Given the description of an element on the screen output the (x, y) to click on. 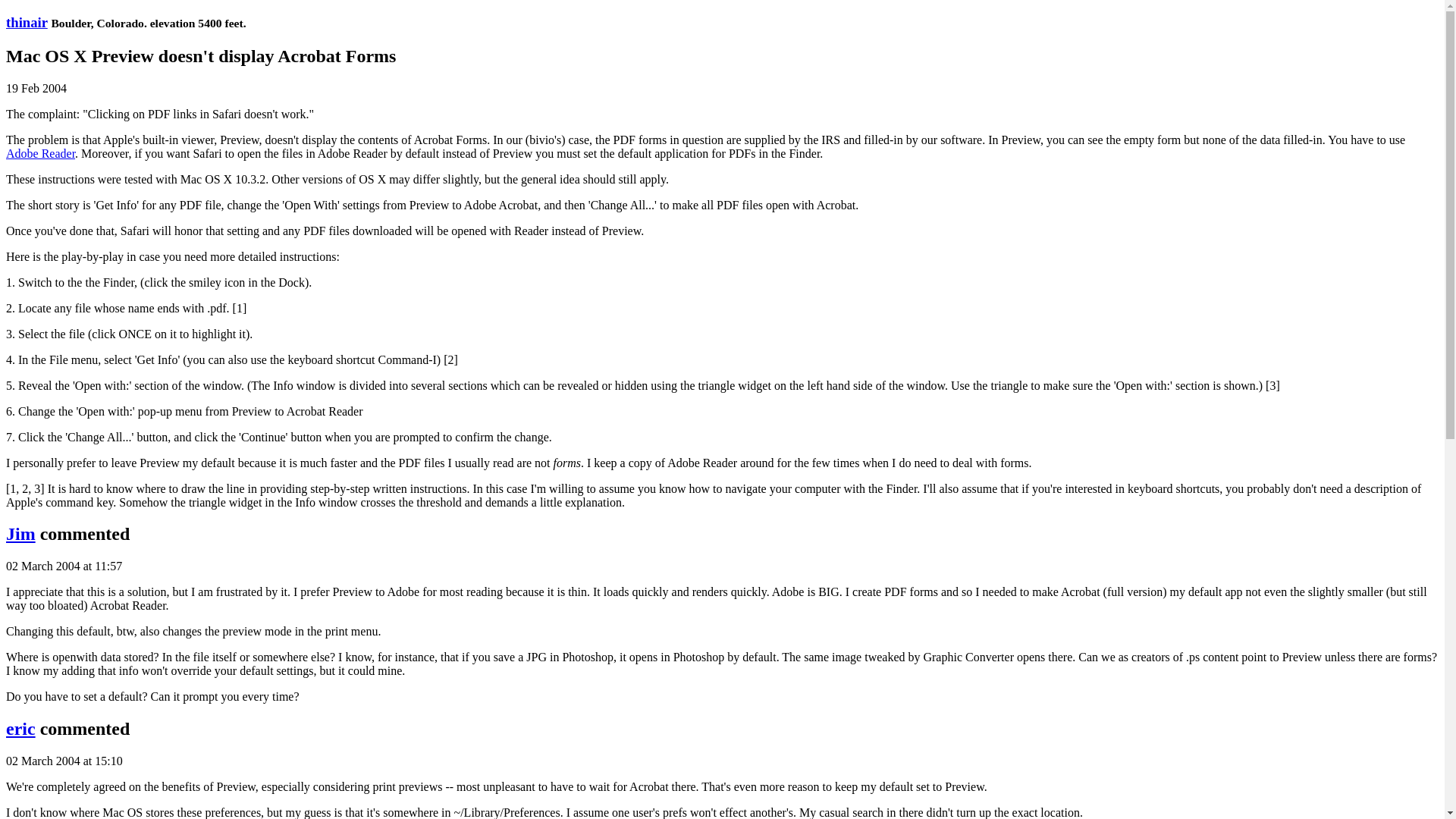
Adobe Reader (40, 153)
eric (19, 728)
Jim (19, 533)
thinair (26, 22)
Home (26, 22)
